Given the description of an element on the screen output the (x, y) to click on. 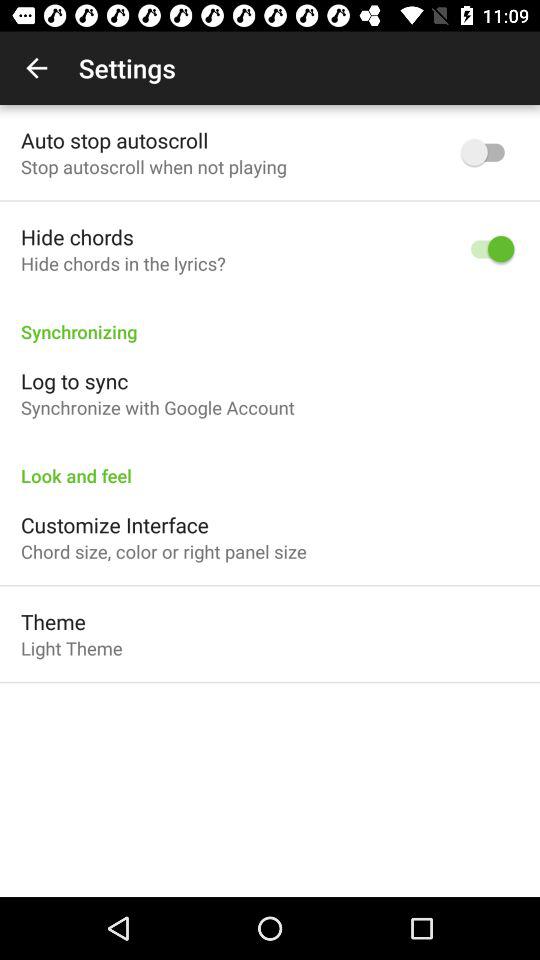
open app next to settings (36, 68)
